Given the description of an element on the screen output the (x, y) to click on. 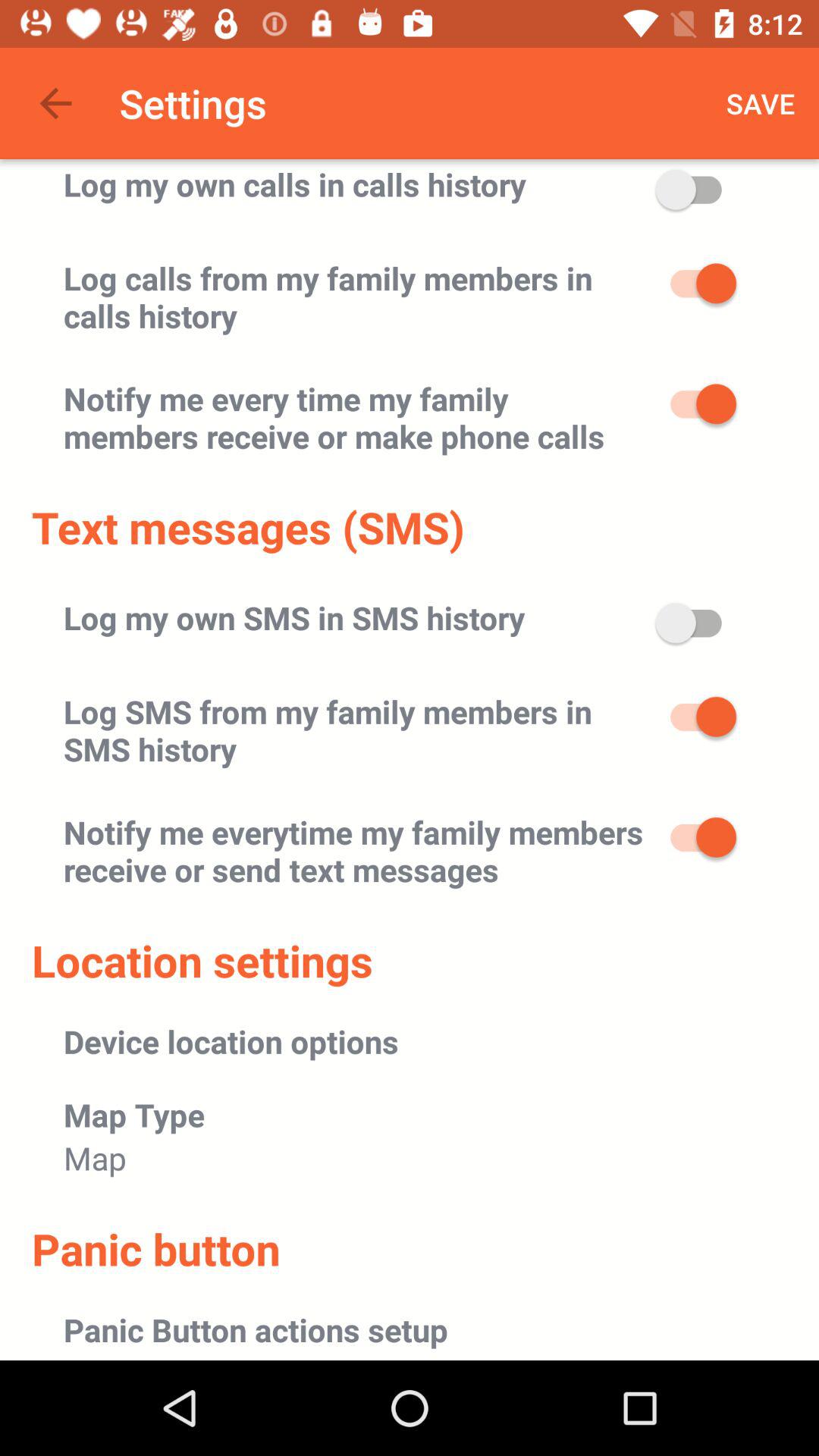
jump until map type (133, 1114)
